Given the description of an element on the screen output the (x, y) to click on. 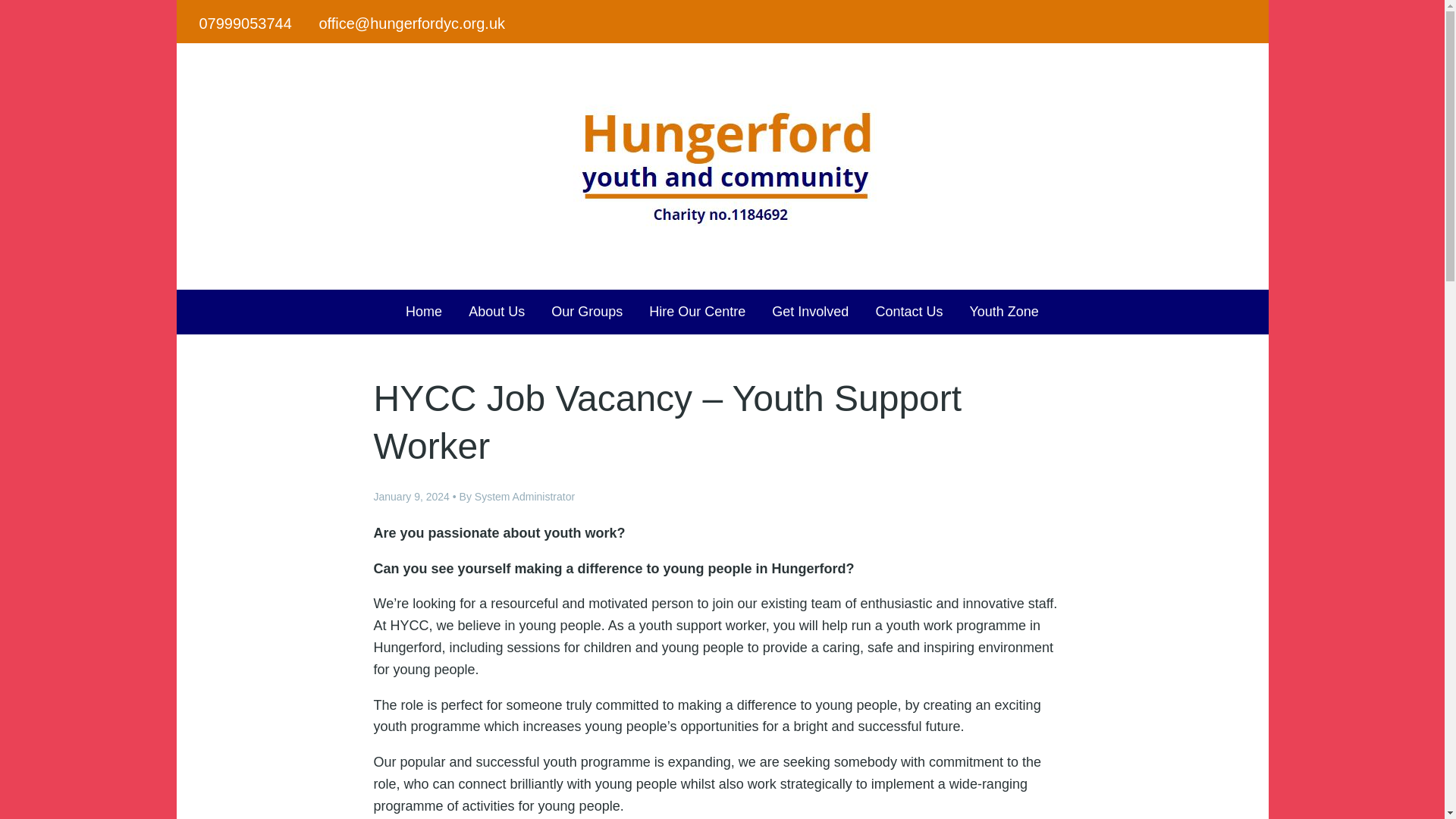
Youth Zone (1003, 311)
Our Groups (586, 311)
Posts by System Administrator (524, 496)
Hire Our Centre (697, 311)
Get Involved (810, 311)
Contact Us (908, 311)
System Administrator (524, 496)
Go to Home (722, 240)
About Us (496, 311)
Home (423, 311)
